Given the description of an element on the screen output the (x, y) to click on. 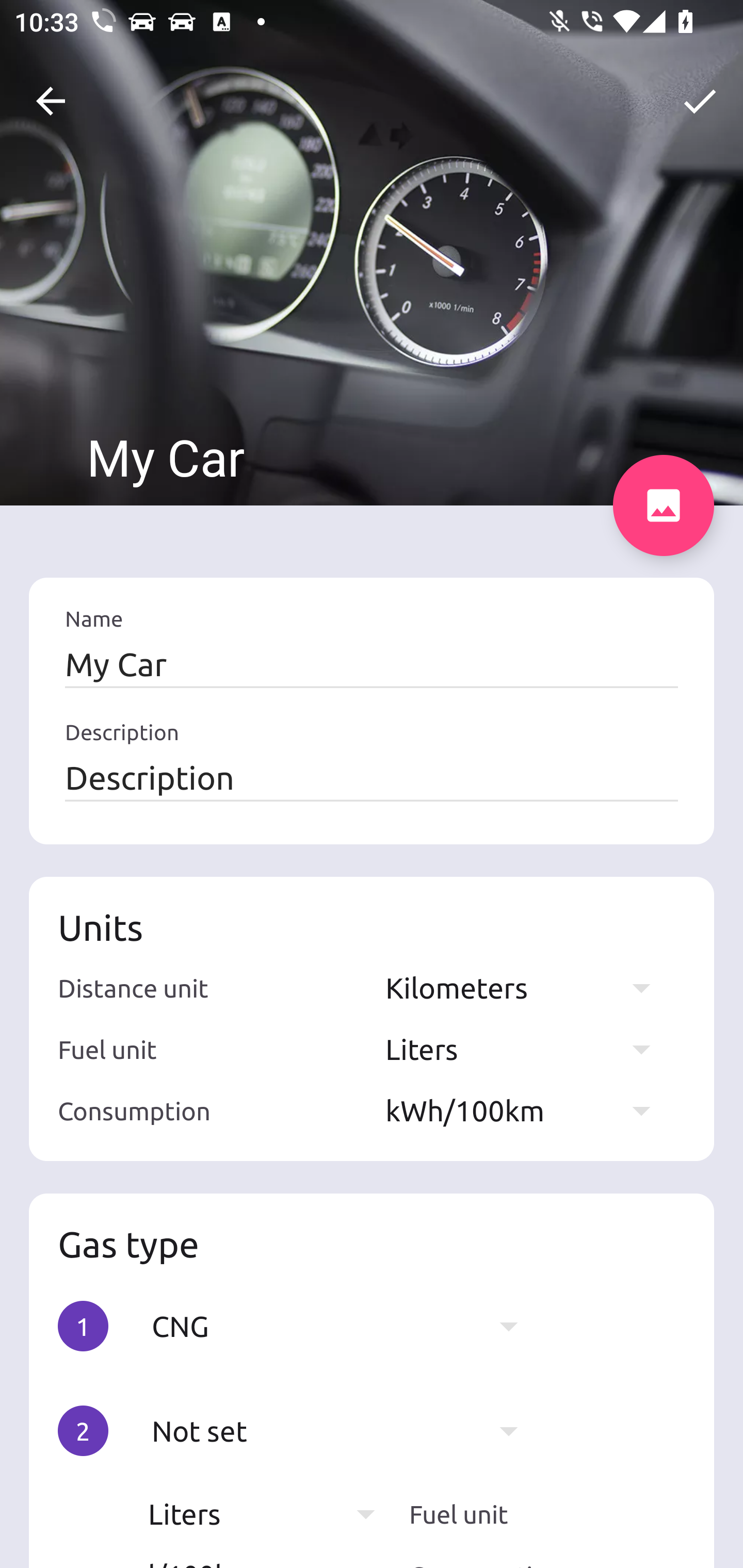
Navigate up (50, 101)
OK (699, 101)
My Car (371, 664)
Description (371, 777)
Kilometers (527, 987)
Liters (527, 1048)
kWh/100km (527, 1110)
CNG (344, 1325)
Not set (344, 1430)
Liters (271, 1513)
